Given the description of an element on the screen output the (x, y) to click on. 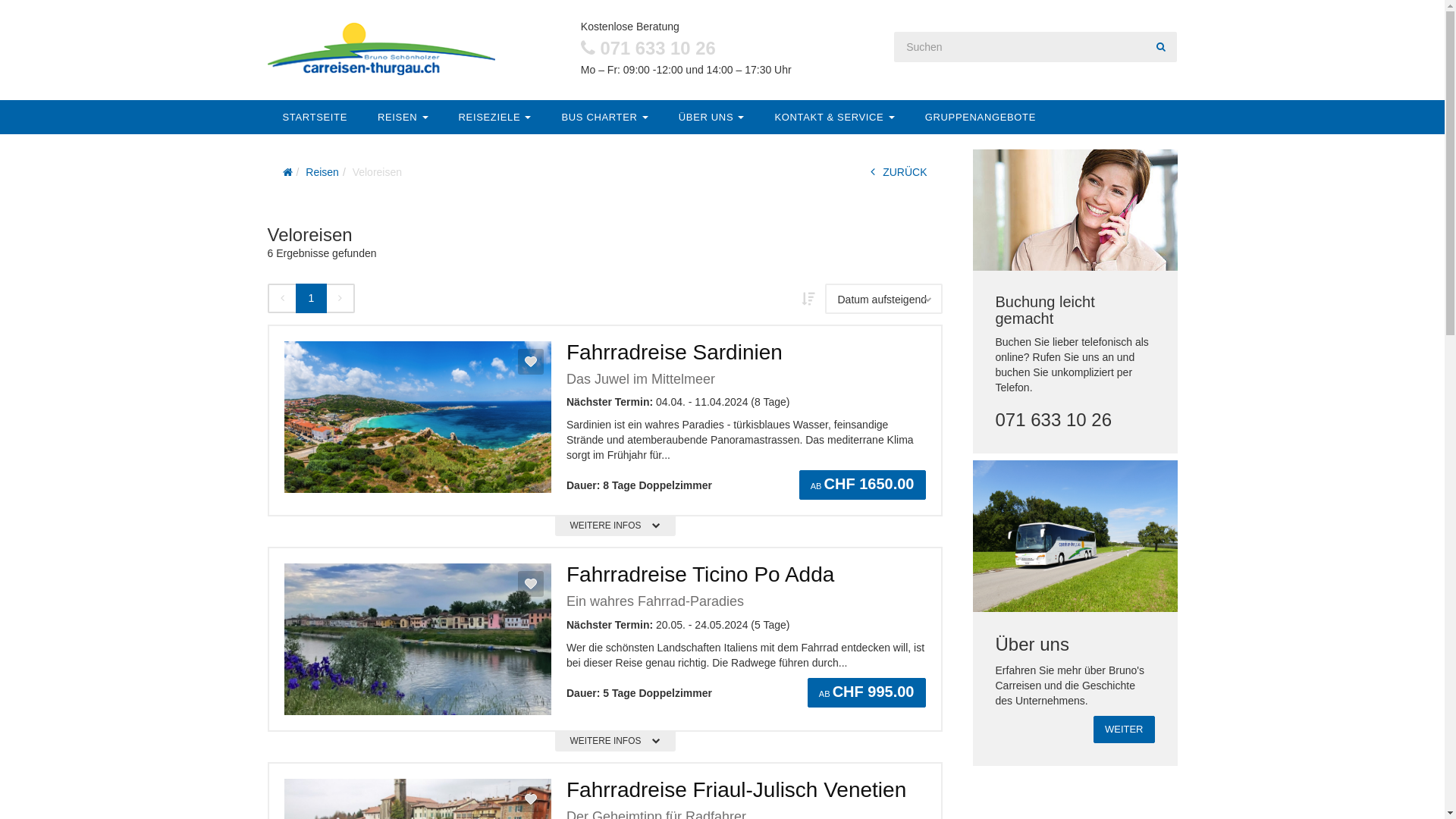
Fahrradreise Sardinien
Das Juwel im Mittelmeer Element type: text (745, 364)
Veloreisen Element type: text (376, 171)
STARTSEITE Element type: text (313, 117)
Reisen Element type: text (321, 172)
REISEZIELE Element type: text (494, 117)
Fahrradreise Ticino Po Adda
Ein wahres Fahrrad-Paradies Element type: text (745, 586)
AB CHF 1650.00 Element type: text (862, 484)
REISEN Element type: text (402, 117)
BUS CHARTER Element type: text (604, 117)
GRUPPENANGEBOTE Element type: text (980, 117)
KONTAKT & SERVICE Element type: text (834, 117)
AB CHF 995.00 Element type: text (866, 692)
WEITER Element type: text (1123, 729)
1 Element type: text (311, 298)
